Given the description of an element on the screen output the (x, y) to click on. 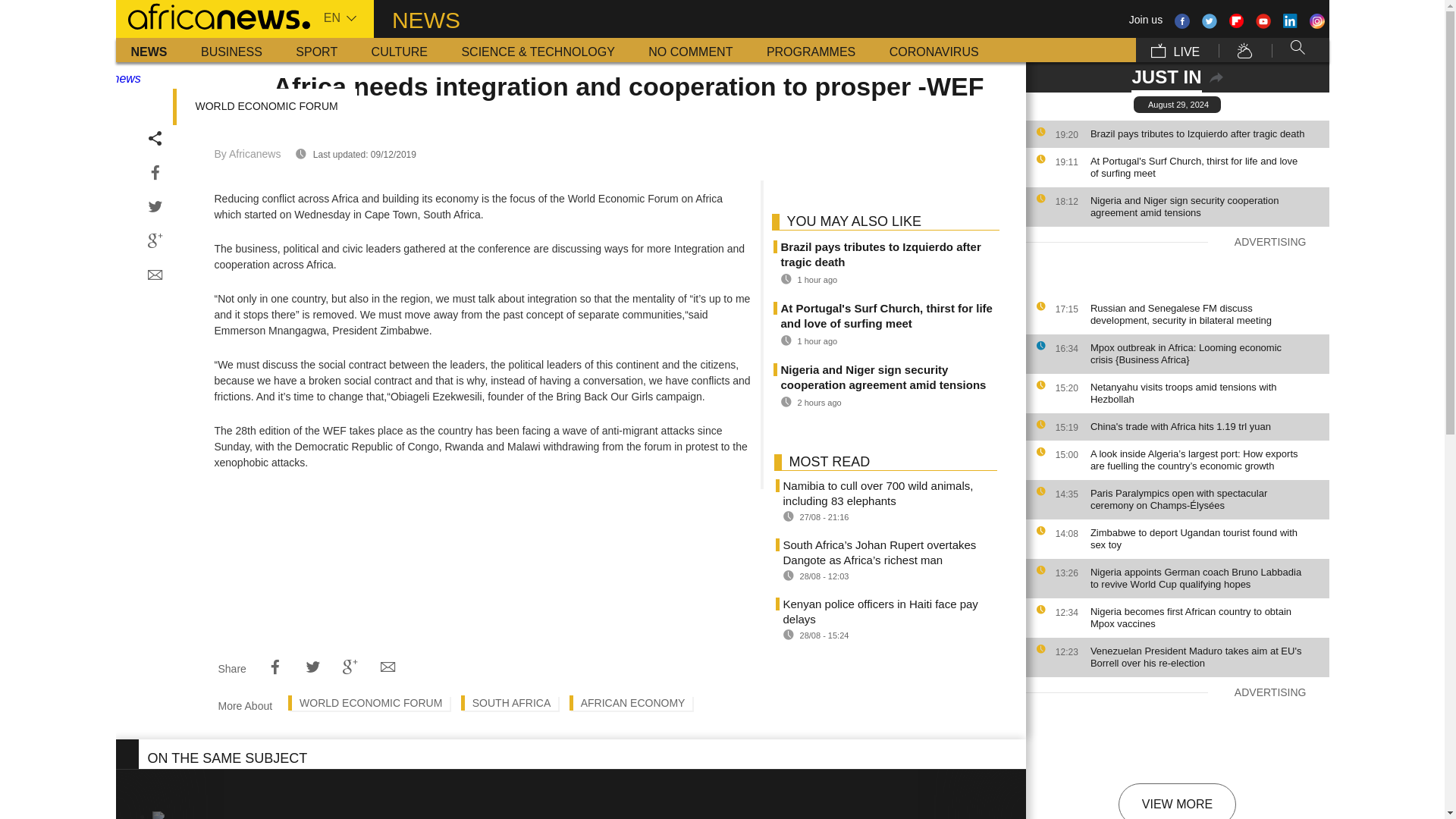
Sport (316, 49)
CORONAVIRUS (934, 49)
NEWS (148, 49)
LIVE (1174, 49)
SPORT (316, 49)
News (148, 49)
NO COMMENT (690, 49)
PROGRAMMES (810, 49)
No Comment (690, 49)
